Given the description of an element on the screen output the (x, y) to click on. 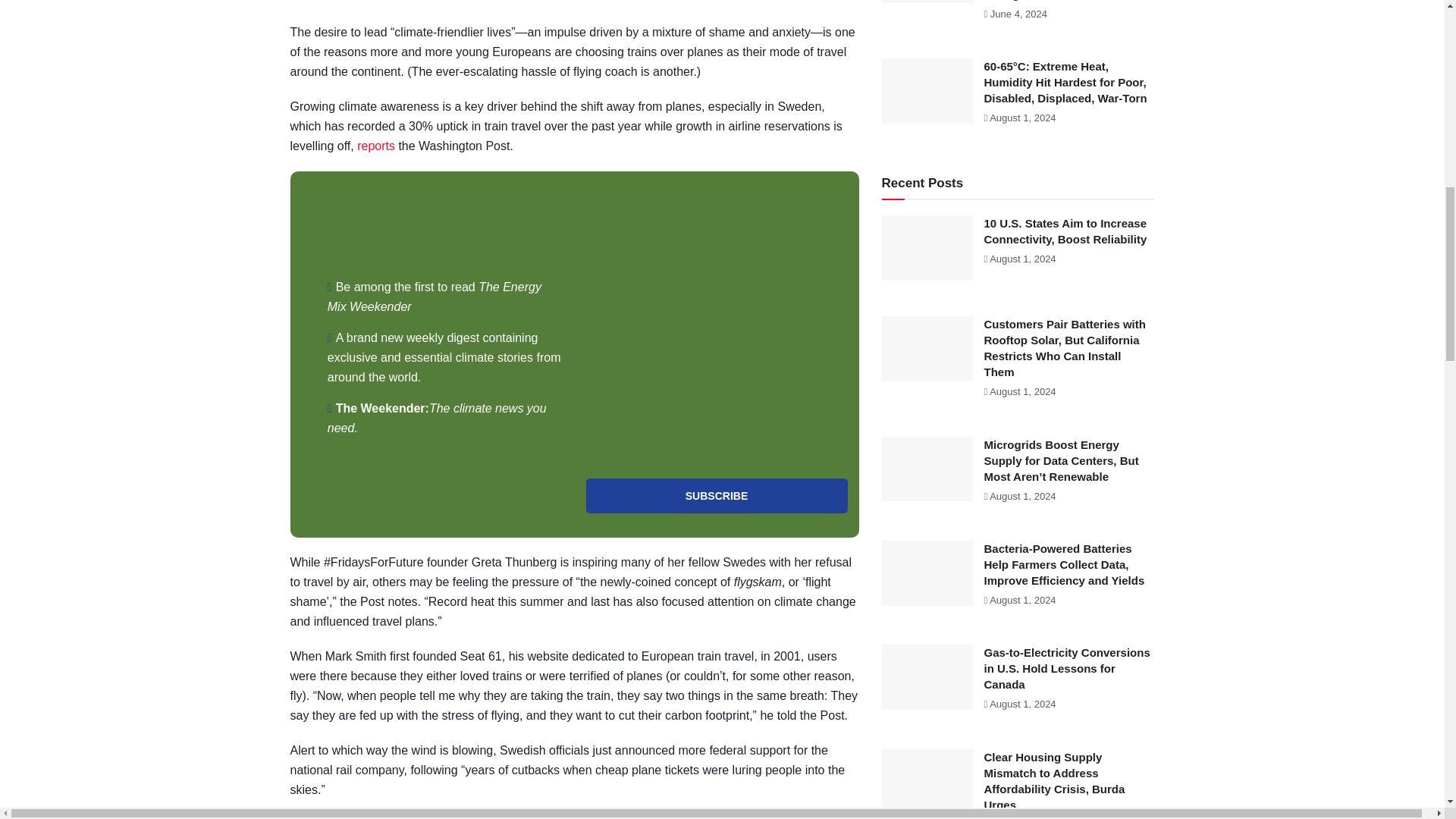
TEM-WeekenderLight (716, 324)
The Energy Mix Weekender (434, 296)
Subscribe (716, 495)
reports (375, 145)
